Given the description of an element on the screen output the (x, y) to click on. 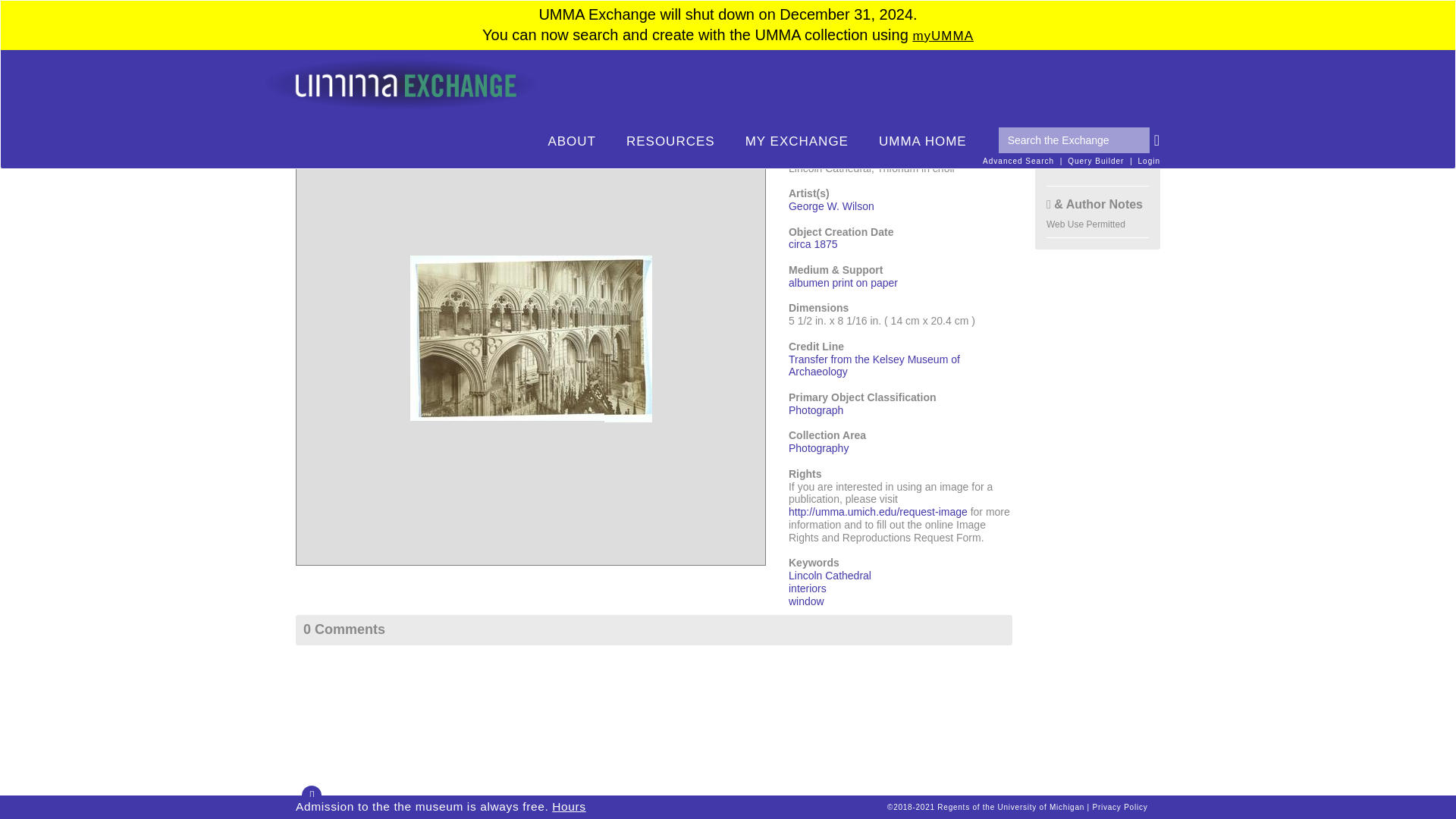
ABOUT (571, 141)
interiors (808, 588)
MY EXCHANGE (796, 141)
myUMMA (943, 35)
RESOURCES (670, 141)
Advanced Search (1018, 161)
Query Builder (1095, 161)
Lincoln Cathedral (829, 575)
circa 1875 (813, 244)
albumen print on paper (843, 282)
Zoom out (317, 154)
George W. Wilson (832, 205)
Photography (818, 448)
UMMA HOME (922, 141)
window (806, 601)
